Given the description of an element on the screen output the (x, y) to click on. 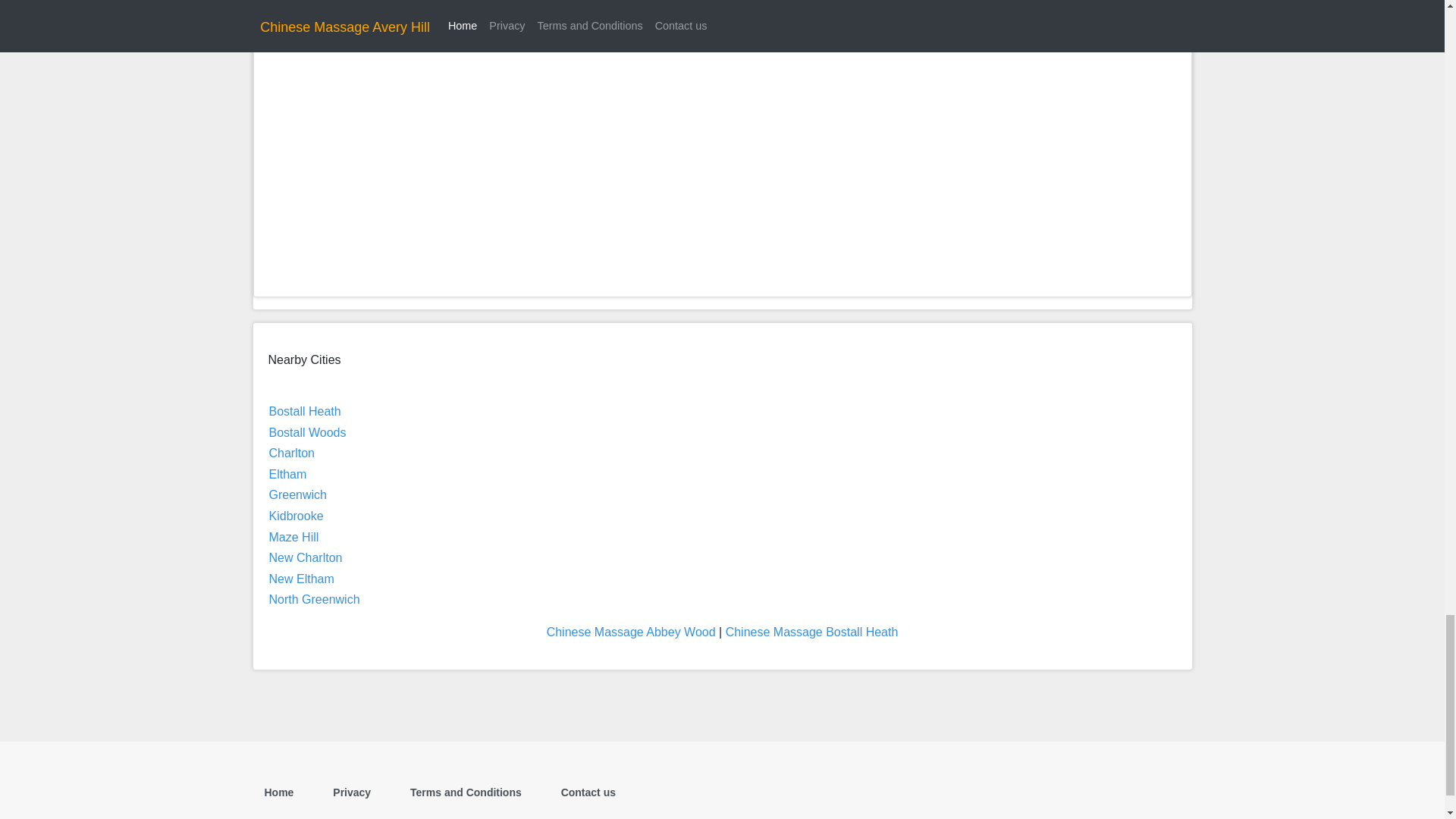
Charlton (290, 452)
North Greenwich (313, 599)
Kidbrooke (295, 515)
Chinese Massage Bostall Heath (811, 631)
Greenwich (296, 494)
New Charlton (304, 557)
Maze Hill (292, 536)
Bostall Heath (303, 410)
Eltham (286, 473)
New Eltham (300, 578)
